Given the description of an element on the screen output the (x, y) to click on. 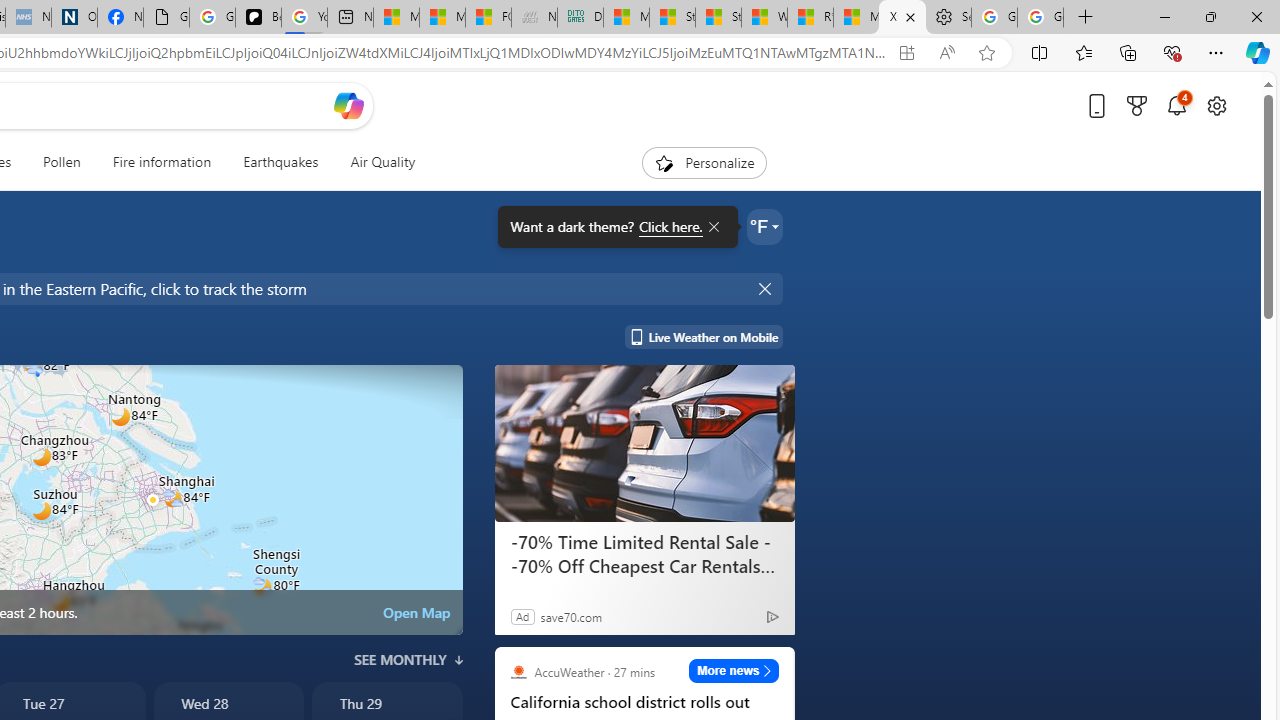
Earthquakes (280, 162)
Earthquakes (280, 162)
save70.com (570, 615)
Google Analytics Opt-out Browser Add-on Download Page (166, 17)
Be Smart | creating Science videos | Patreon (258, 17)
Fire information (162, 162)
Open Map (416, 612)
Pollen (61, 162)
